Given the description of an element on the screen output the (x, y) to click on. 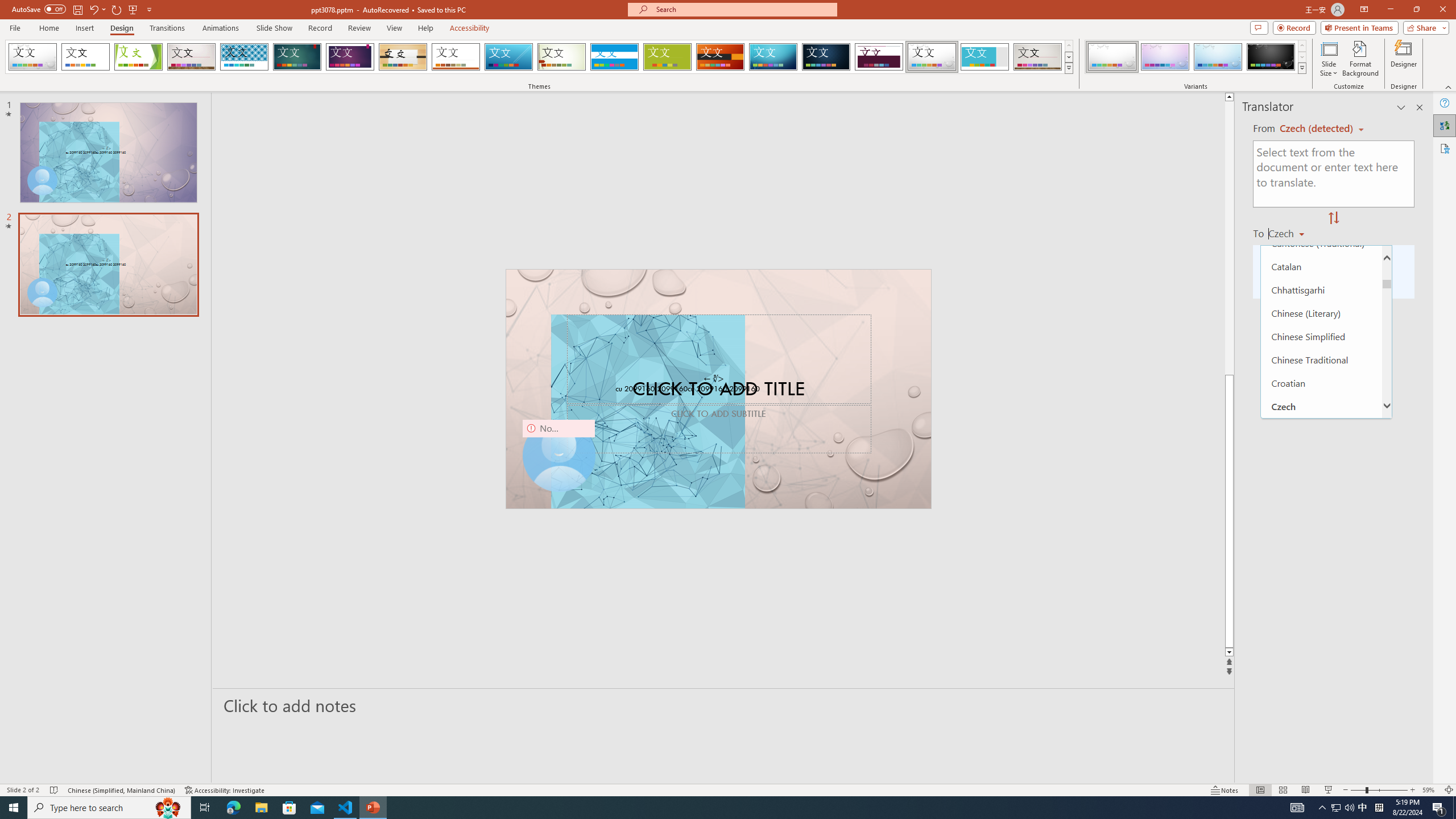
Dari (1320, 452)
Zoom 59% (1430, 790)
Chinese Traditional (1320, 359)
Variants (1301, 67)
Droplet (931, 56)
TextBox 7 (713, 378)
